Given the description of an element on the screen output the (x, y) to click on. 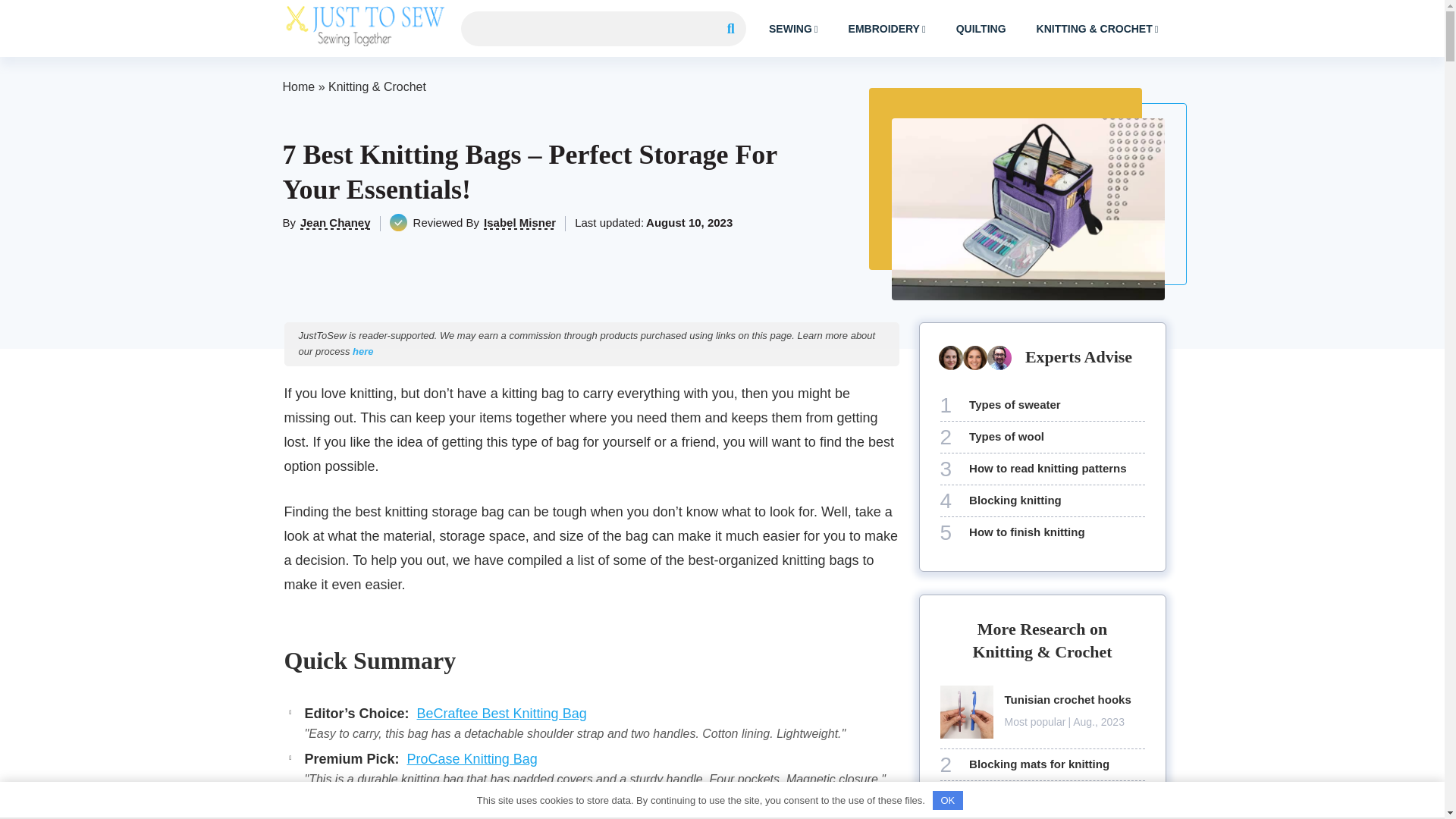
ProCase Knitting Bag (472, 758)
here (362, 351)
BeCraftee Best Knitting Bag (501, 713)
Jean Chaney (335, 223)
QUILTING (981, 28)
Teamoy Knitting Bag (500, 804)
Home (298, 86)
Isabel Misner (519, 223)
SEWING (793, 28)
EMBROIDERY (887, 28)
